Given the description of an element on the screen output the (x, y) to click on. 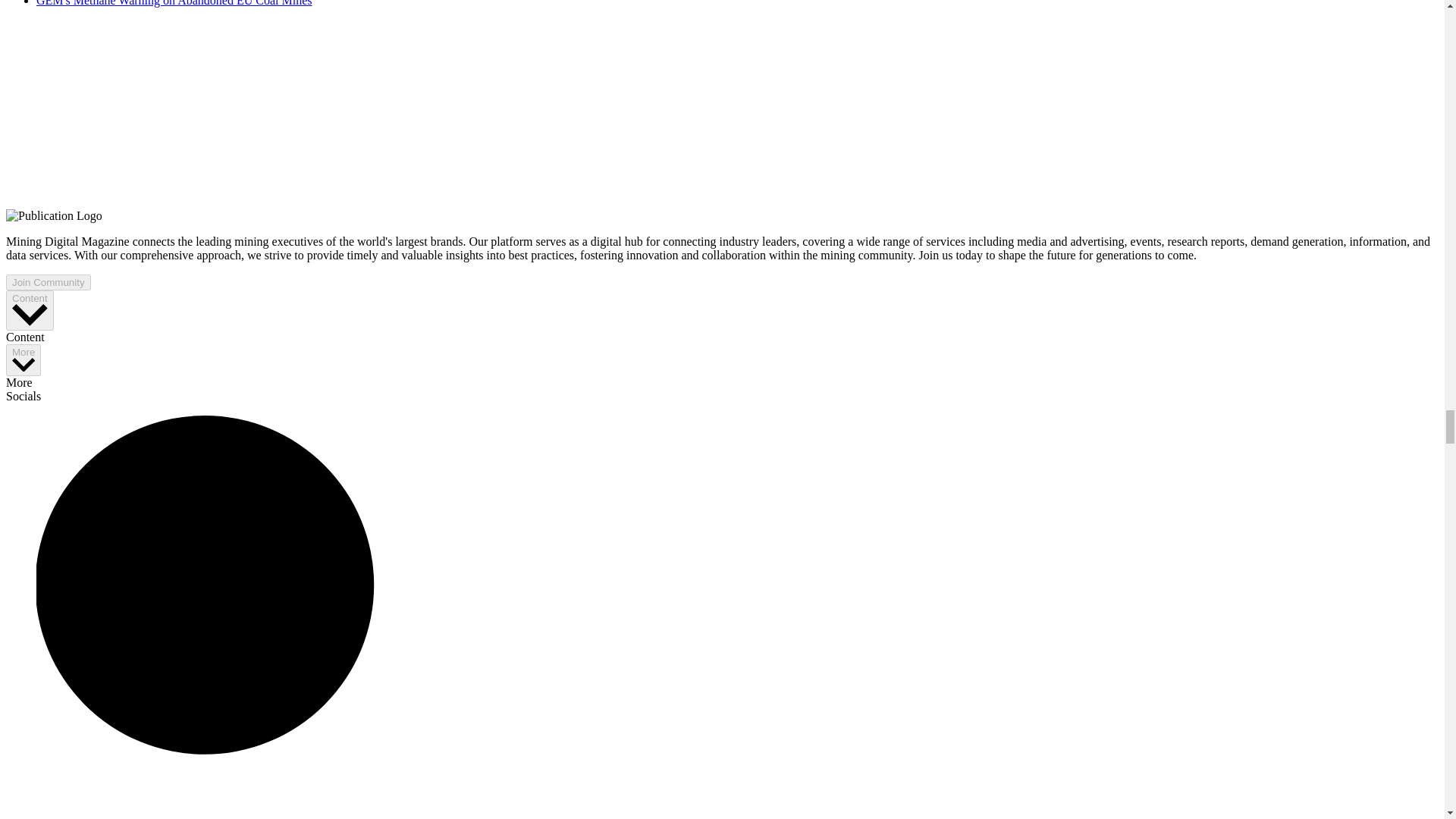
Join Community (47, 282)
Content (29, 310)
More (22, 359)
